Given the description of an element on the screen output the (x, y) to click on. 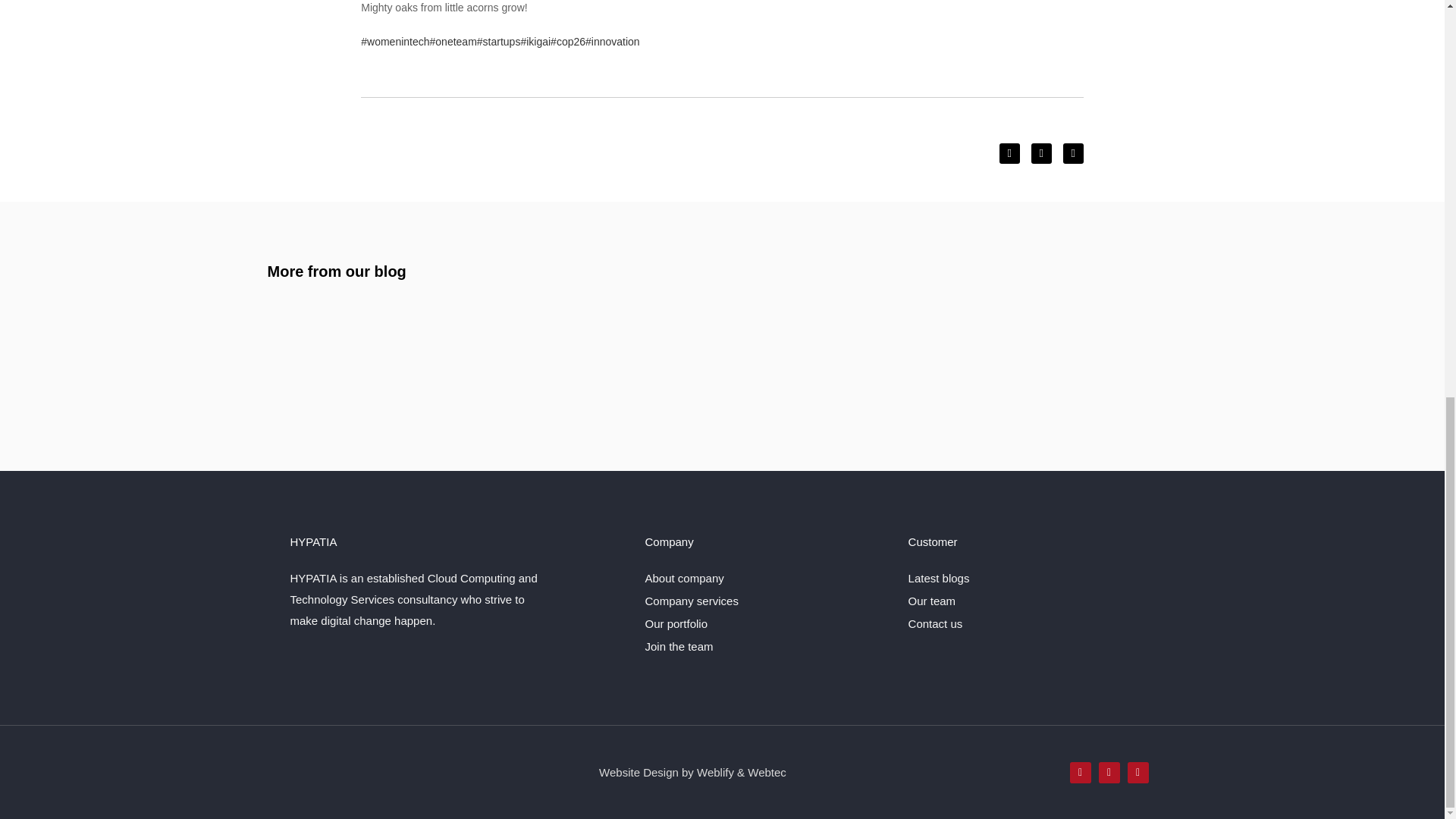
Our portfolio (765, 623)
About company (765, 578)
Join the team (765, 646)
Latest blogs (1029, 578)
Company services (765, 600)
